Given the description of an element on the screen output the (x, y) to click on. 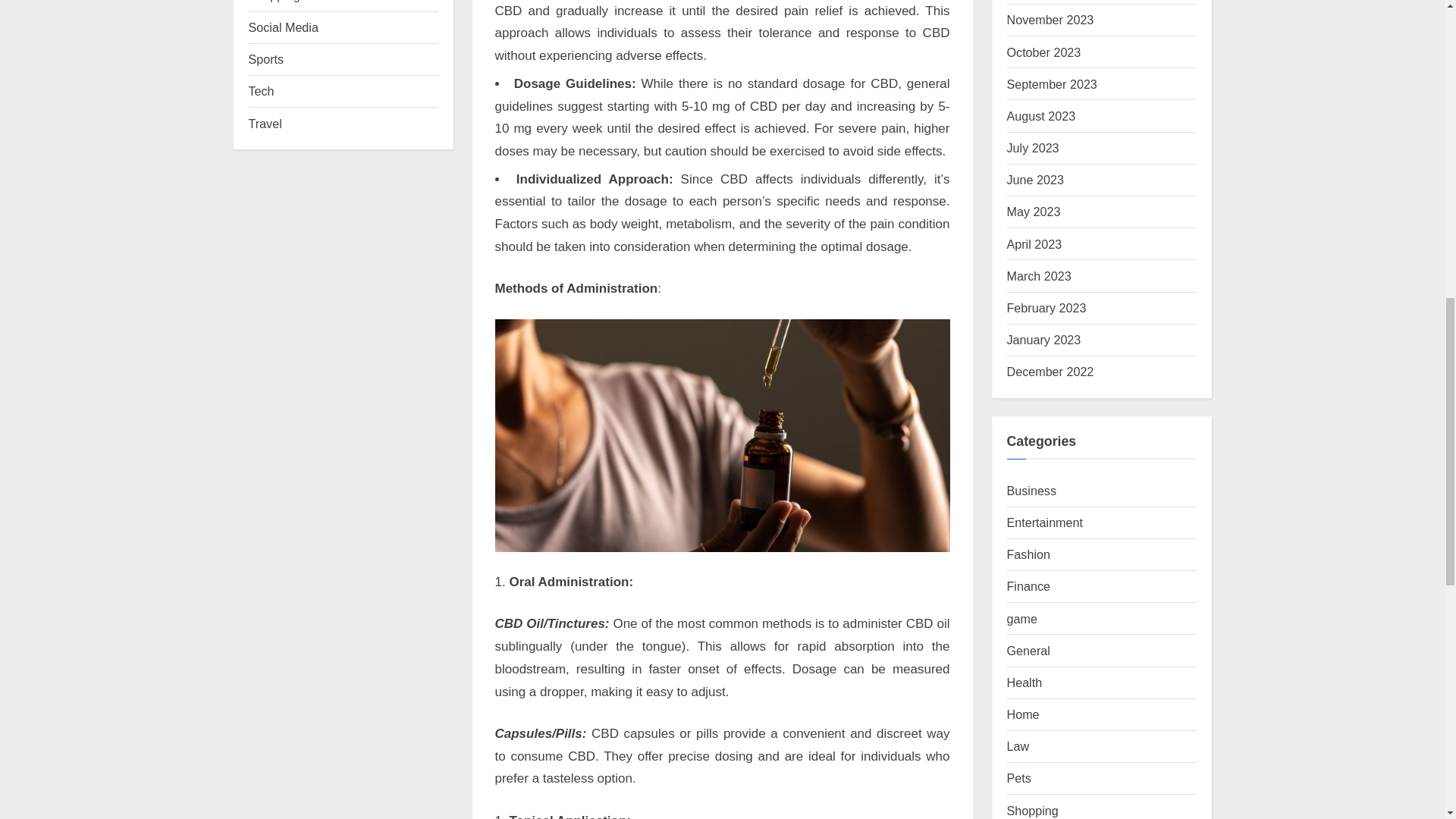
Shopping (273, 1)
Sports (265, 59)
Travel (265, 123)
Tech (261, 90)
Social Media (283, 27)
